Given the description of an element on the screen output the (x, y) to click on. 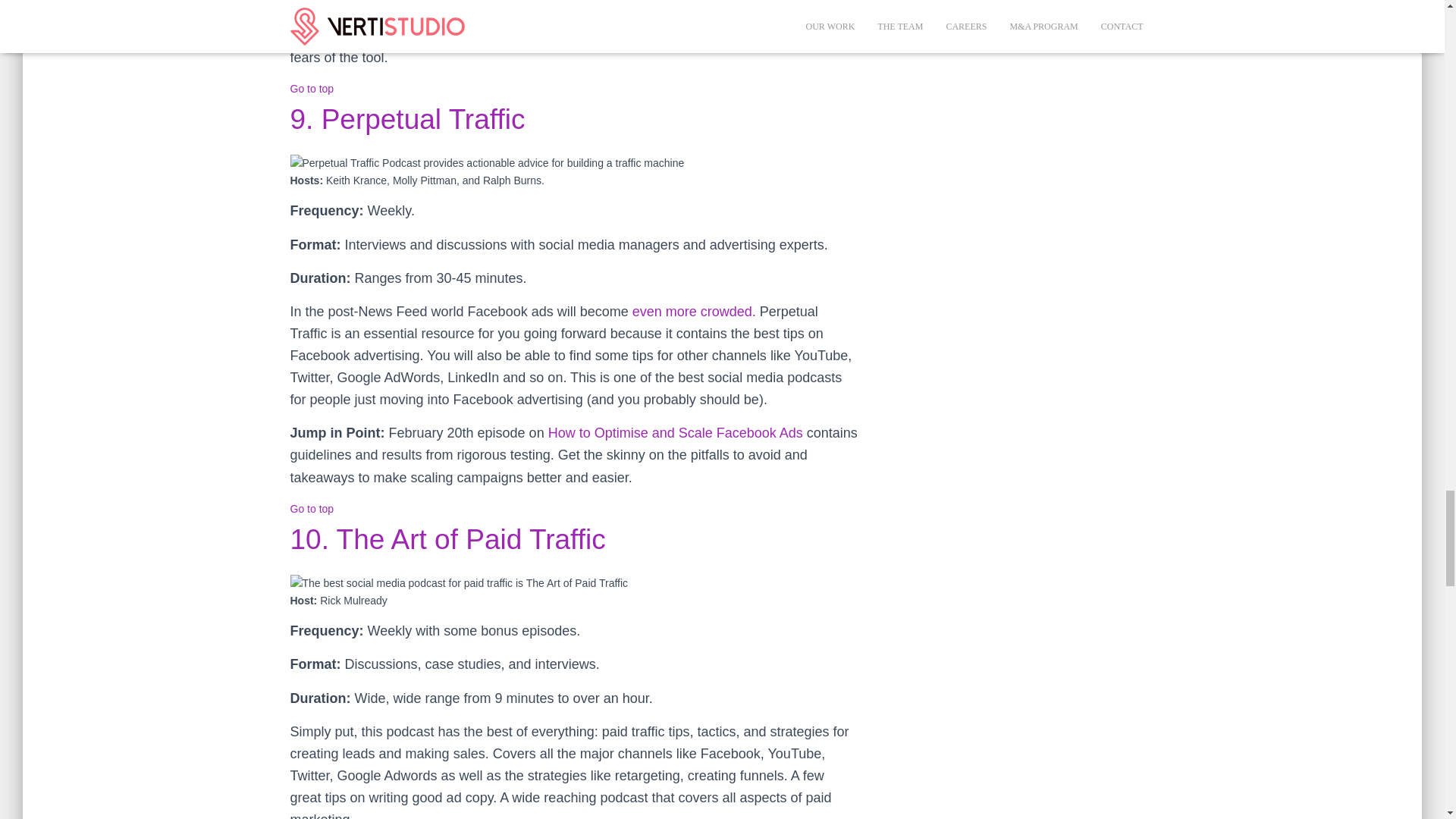
Go to top (311, 88)
9. Perpetual Traffic (406, 119)
The Myths of Facebook Business Manager (516, 34)
